Given the description of an element on the screen output the (x, y) to click on. 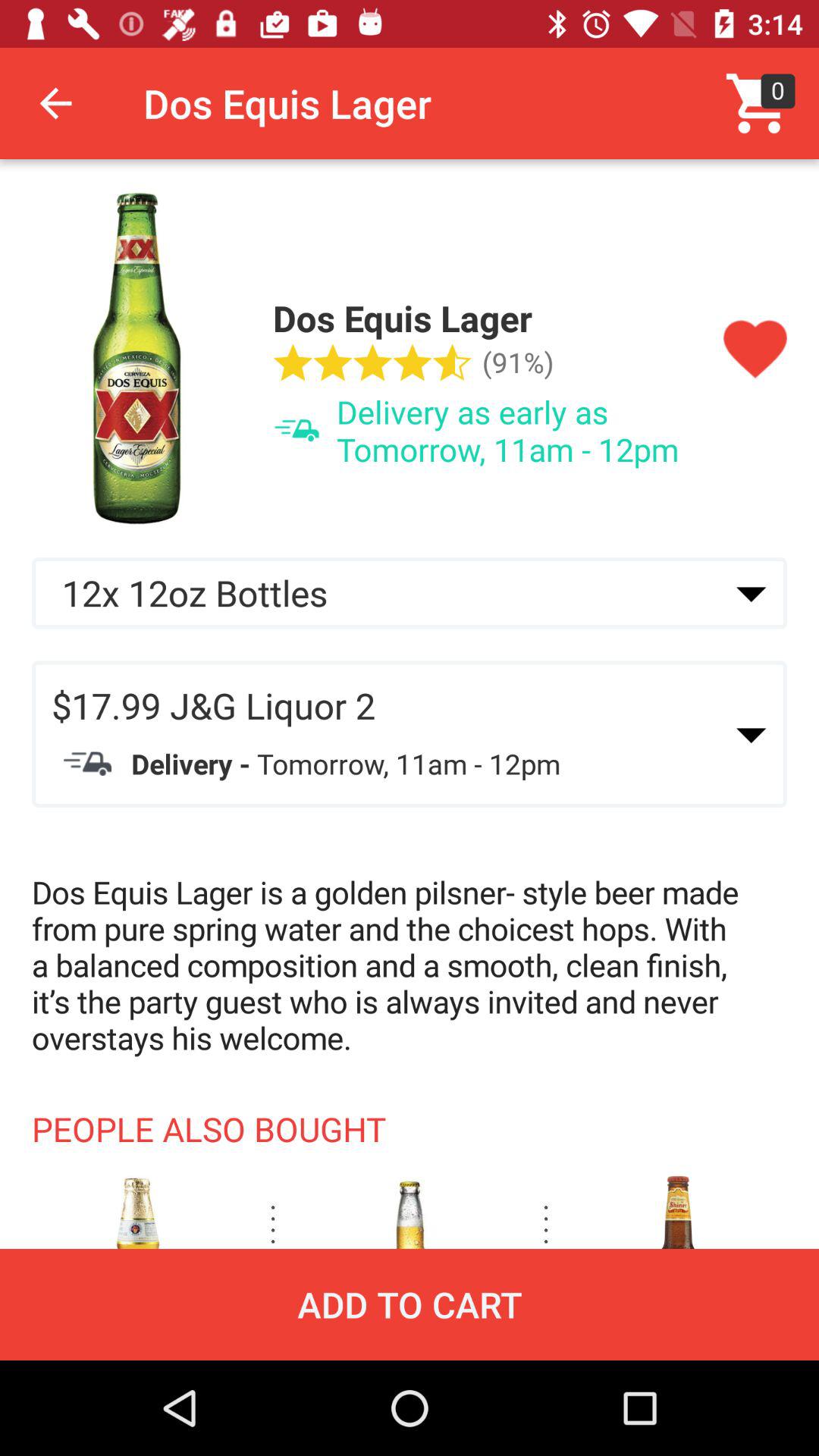
love this (755, 350)
